Given the description of an element on the screen output the (x, y) to click on. 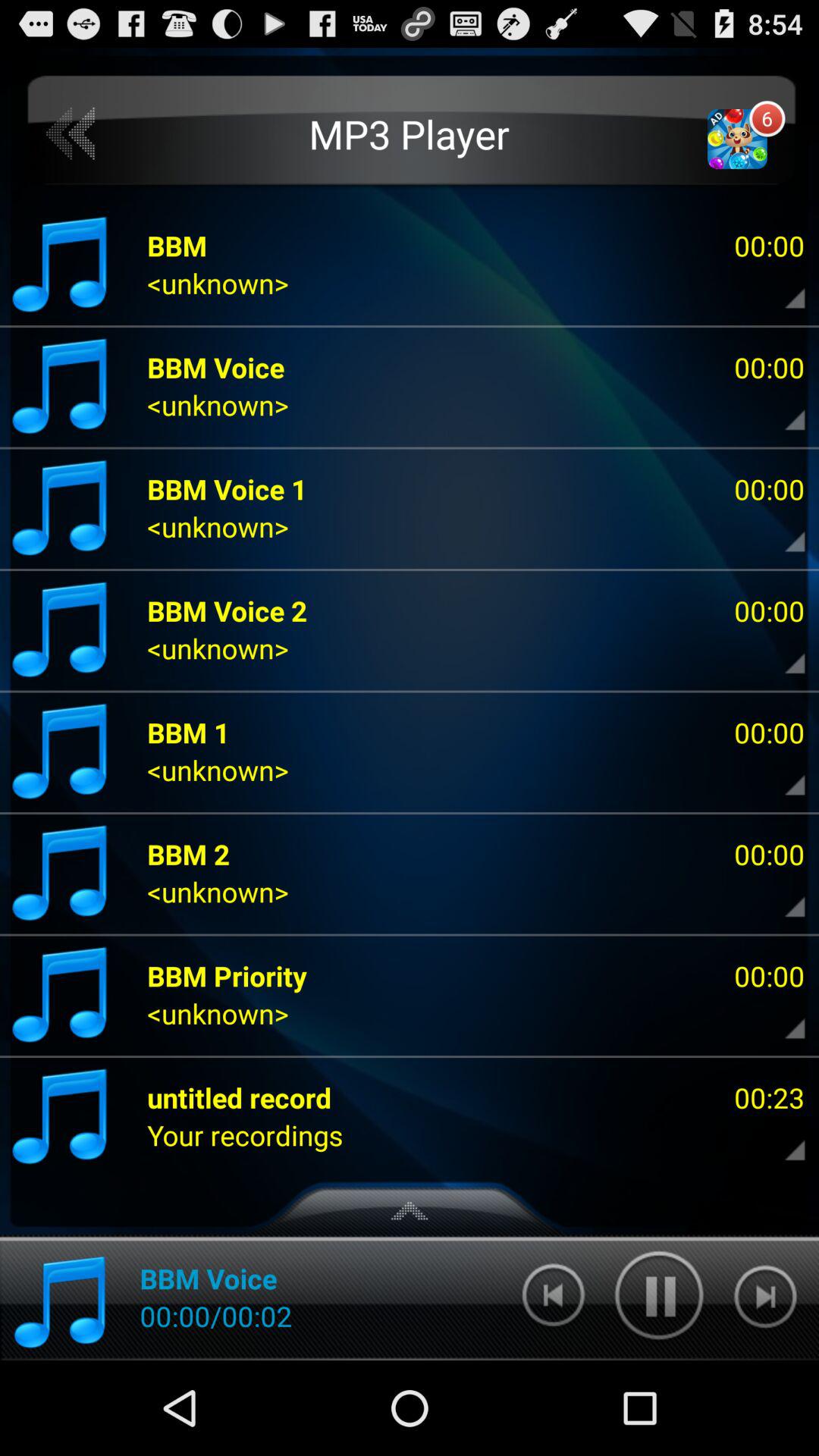
press the mp3 player icon (408, 133)
